Given the description of an element on the screen output the (x, y) to click on. 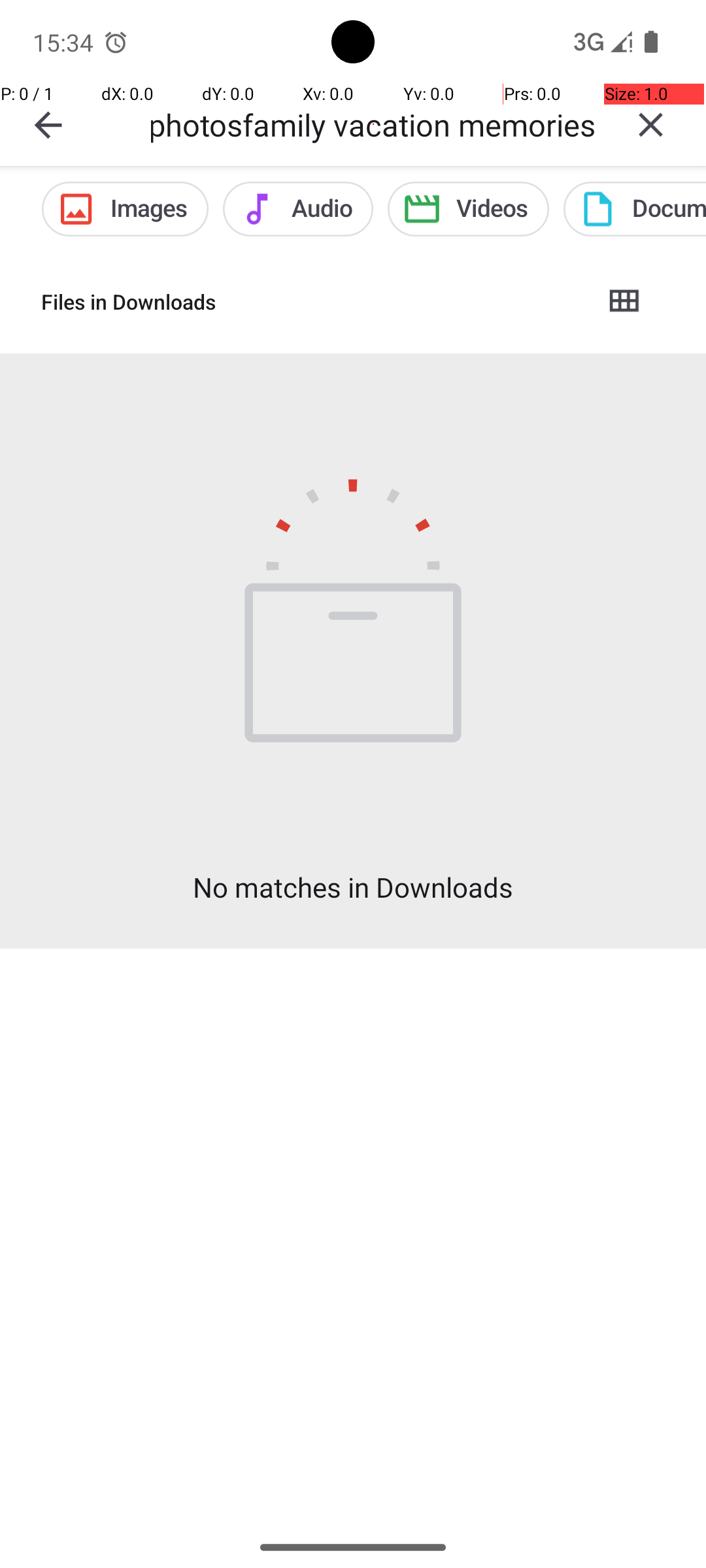
holiday photosfamily vacation memories Element type: android.widget.AutoCompleteTextView (373, 124)
